Given the description of an element on the screen output the (x, y) to click on. 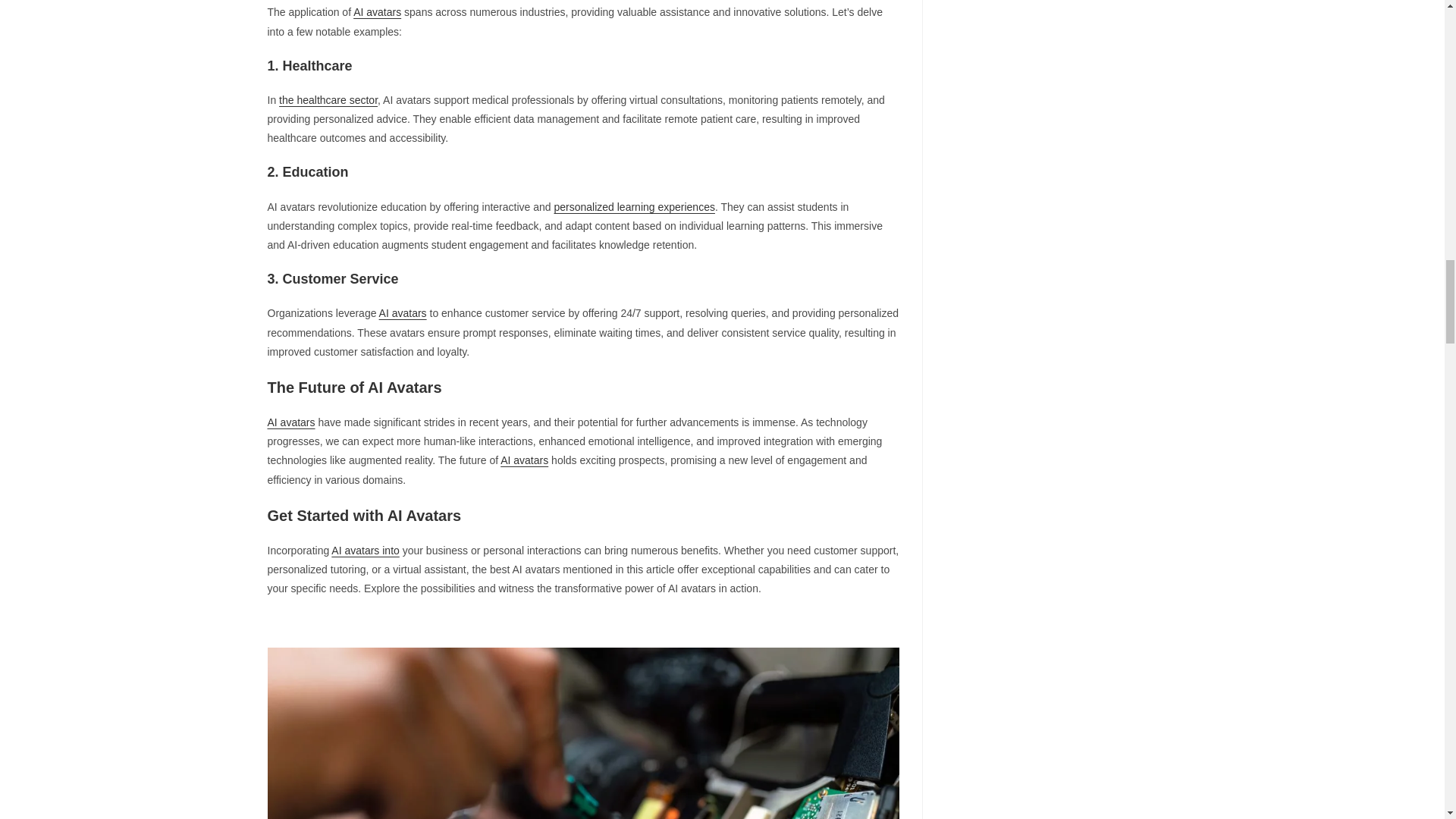
AI avatars (377, 11)
personalized learning experiences (633, 206)
AI avatars (524, 460)
AI avatars (290, 422)
AI avatars into (364, 550)
the healthcare sector (328, 100)
AI avatars (402, 313)
Best AI Avatar (582, 733)
